Given the description of an element on the screen output the (x, y) to click on. 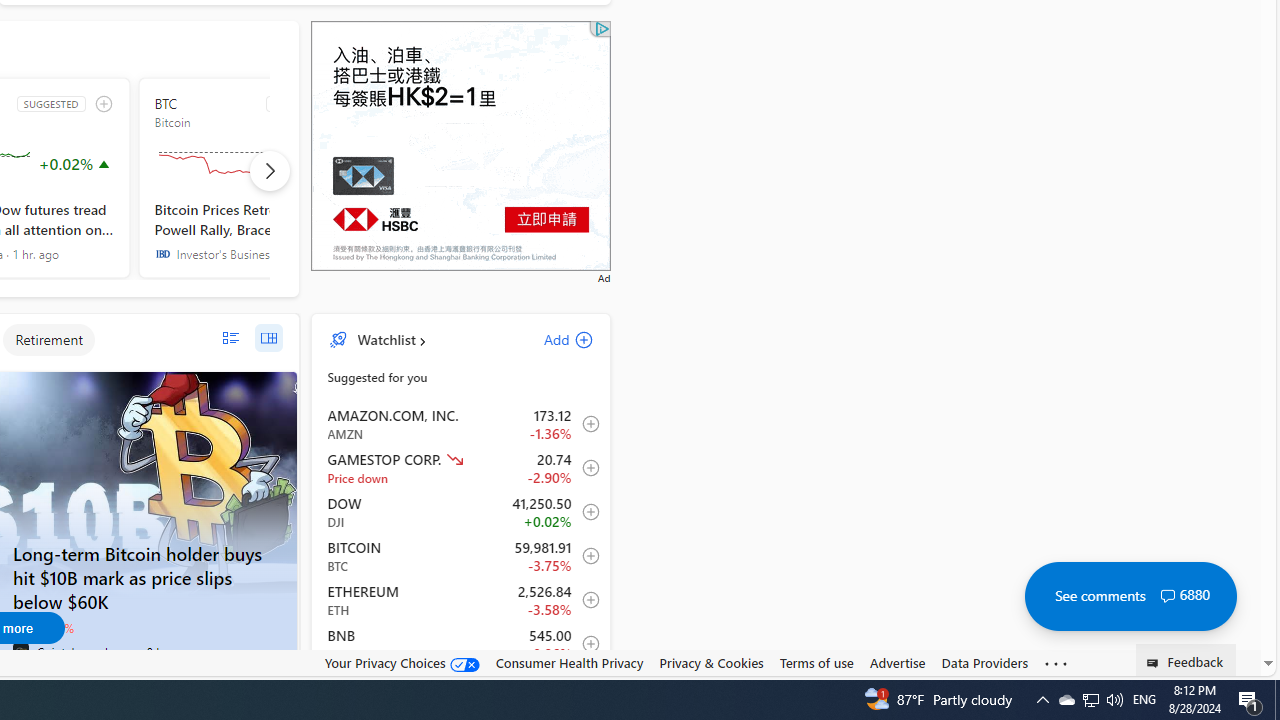
Terms of use (816, 662)
See comments 6880 (1130, 596)
Add to Watchlist (585, 643)
DJI DOW increase 41,250.50 +9.98 +0.02% item2 (461, 512)
Advertise (897, 662)
BTC -3.75% (42, 627)
Consumer Health Privacy (569, 663)
BNB BNB decrease 545.00 -4.68 -0.86% item5 (461, 644)
grid layout (267, 338)
Consumer Health Privacy (569, 662)
Class: feedback_link_icon-DS-EntryPoint1-1 (1156, 663)
list layout (230, 338)
